Given the description of an element on the screen output the (x, y) to click on. 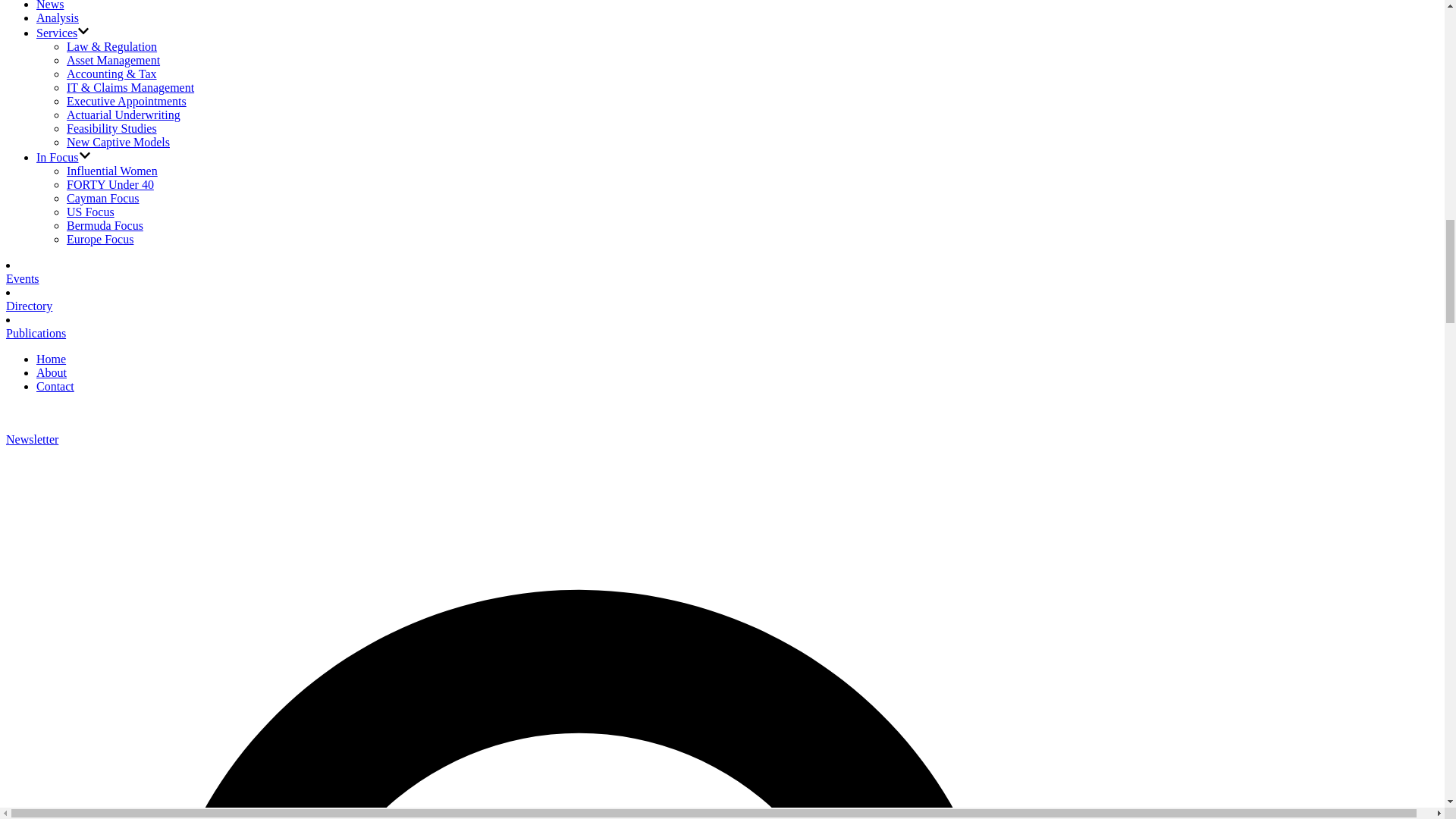
New Captive Models (118, 141)
News (50, 5)
Influential Women (111, 170)
Europe Focus (99, 238)
Publications (35, 332)
In Focus (57, 156)
Feasibility Studies (111, 128)
Cayman Focus (102, 197)
Bermuda Focus (104, 225)
FORTY Under 40 (110, 184)
Executive Appointments (126, 101)
Analysis (57, 17)
Events (22, 278)
Home (50, 358)
Directory (28, 305)
